Given the description of an element on the screen output the (x, y) to click on. 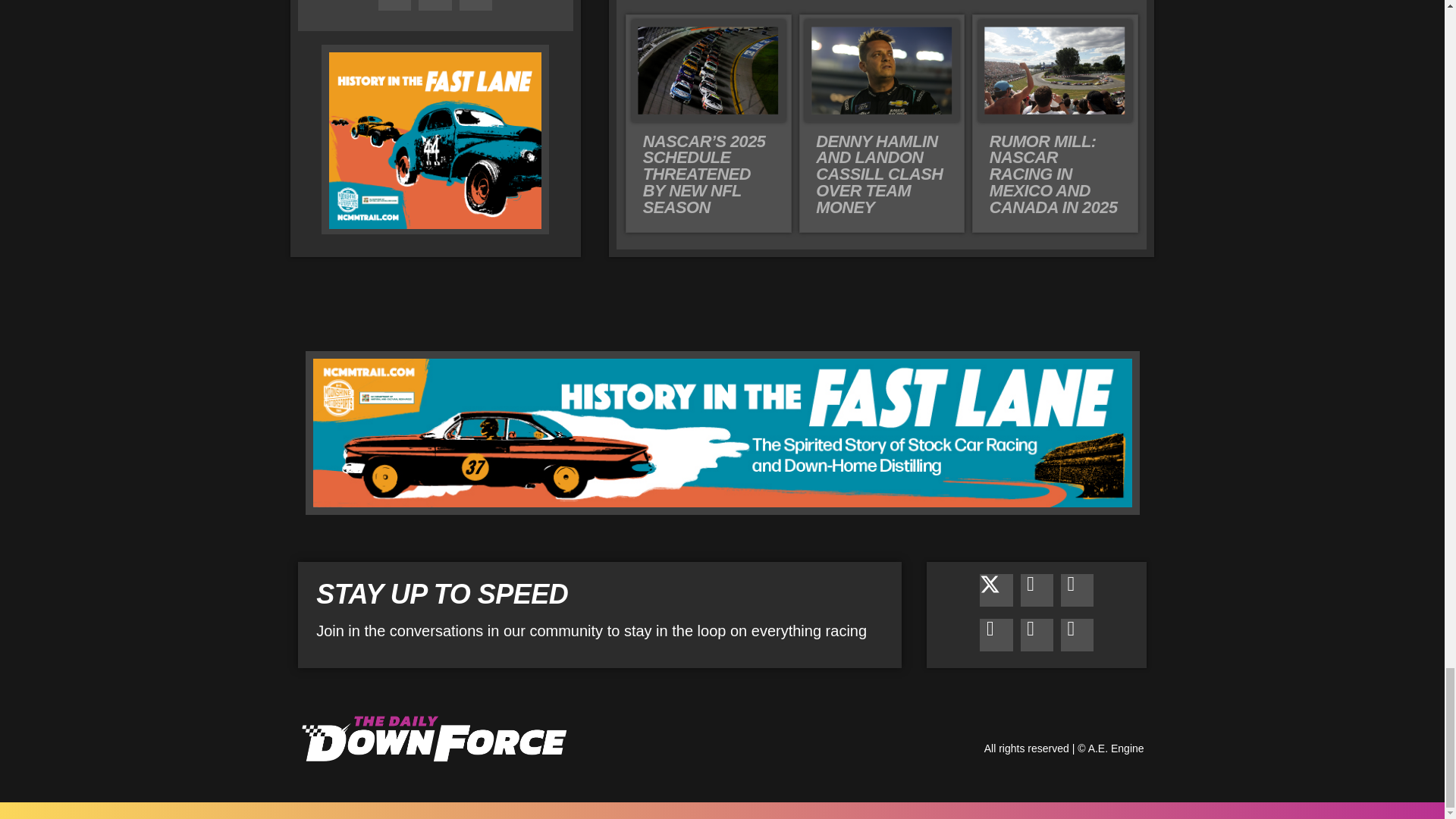
Rumor Mill: NASCAR Racing in Mexico AND Canada in 2025 (1054, 174)
Denny Hamlin and Landon Cassill Clash Over Team Money (878, 174)
